Given the description of an element on the screen output the (x, y) to click on. 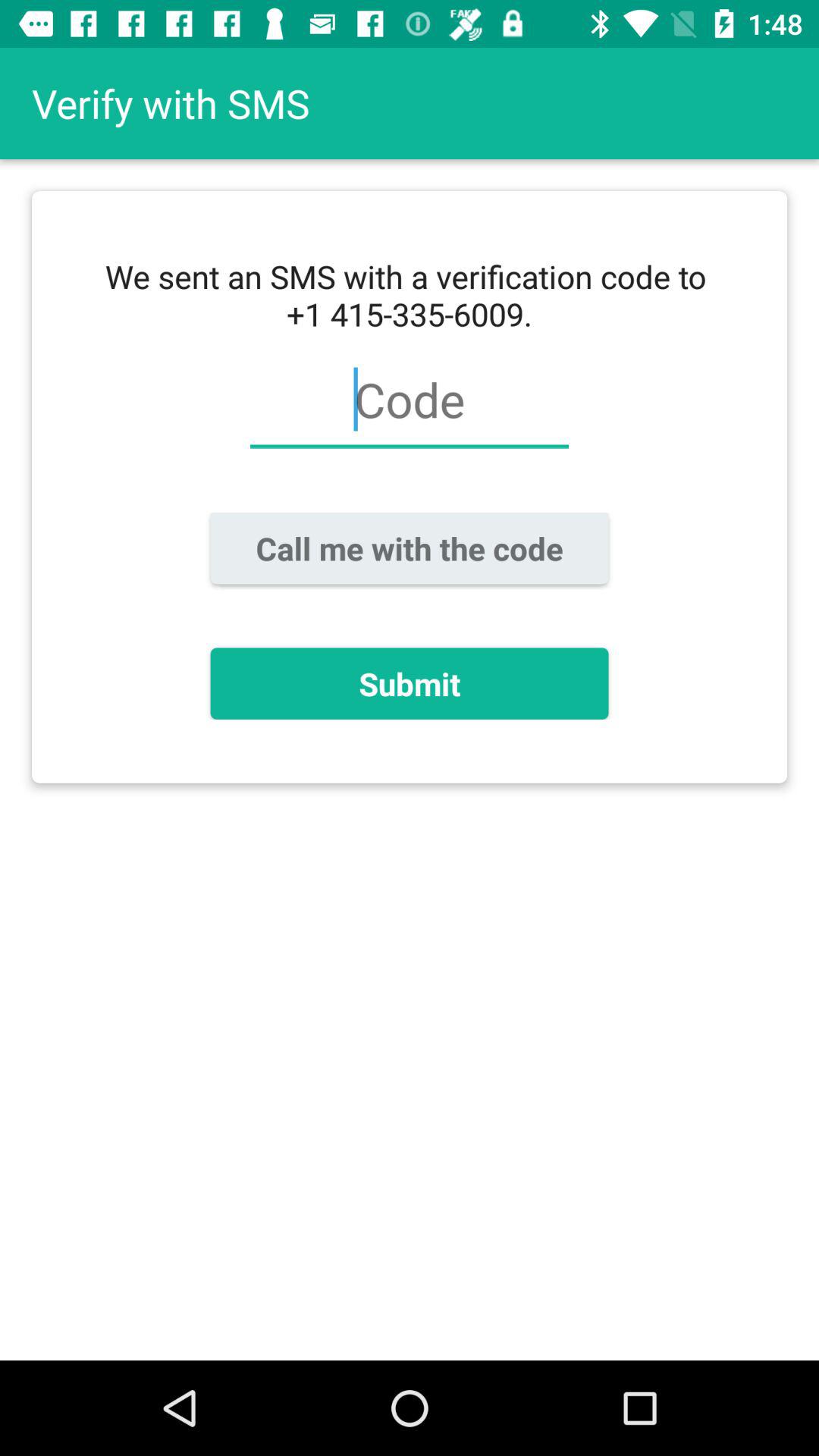
choose the item above submit item (409, 548)
